Given the description of an element on the screen output the (x, y) to click on. 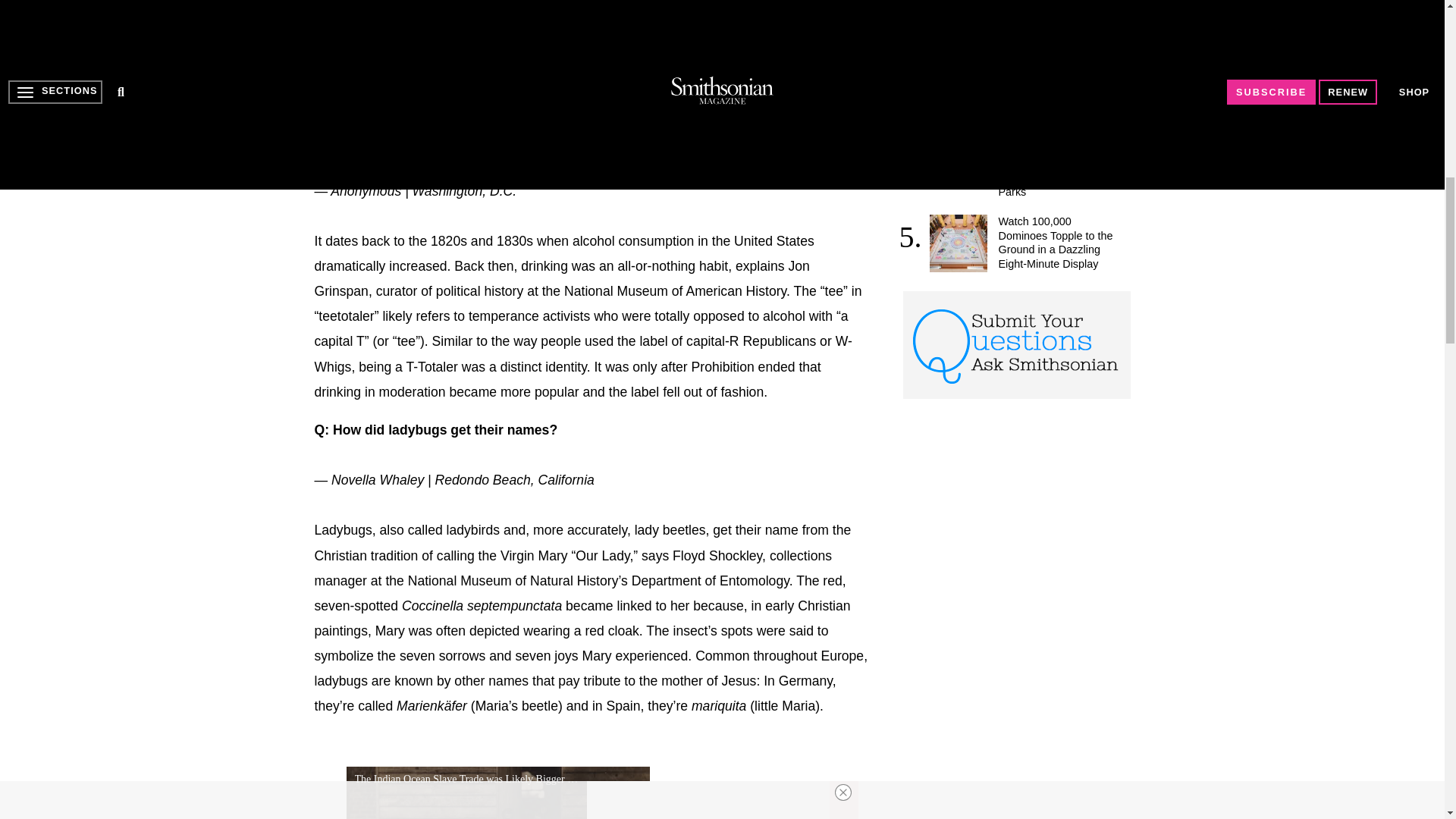
LinkedIn (387, 95)
Twitter (357, 95)
Facebook (325, 95)
Reddit (418, 95)
Ask Smithsonian (1015, 344)
Pocket (480, 95)
Print (511, 95)
WhatsApp (450, 95)
Email (542, 95)
